Given the description of an element on the screen output the (x, y) to click on. 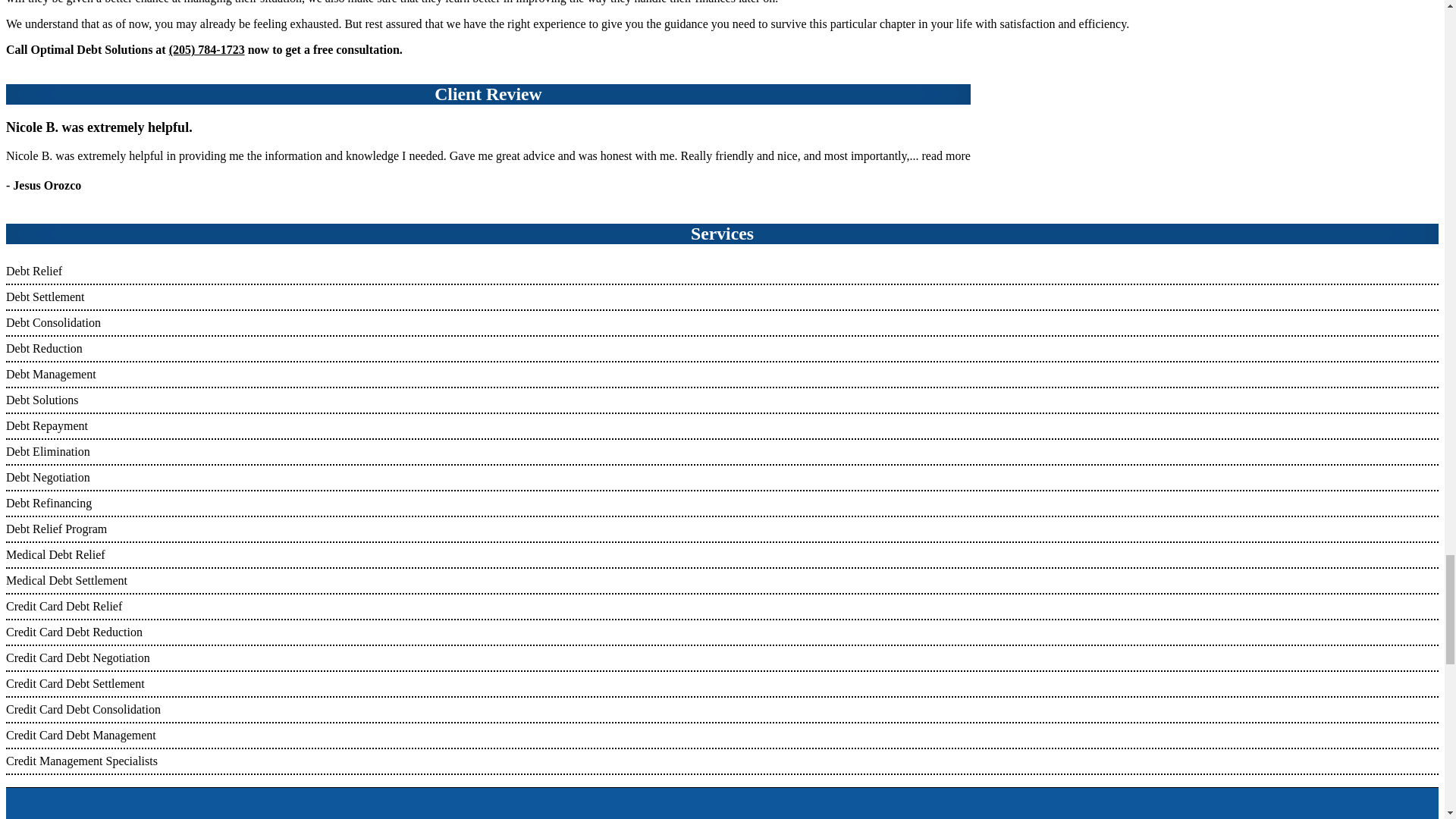
Debt Solutions (41, 399)
Optimal Debt Solutions (94, 803)
Debt Consolidation (52, 322)
Debt Management (50, 373)
Debt Settlement (44, 296)
Debt Reduction (43, 348)
read more (946, 155)
Debt Relief (33, 270)
